Given the description of an element on the screen output the (x, y) to click on. 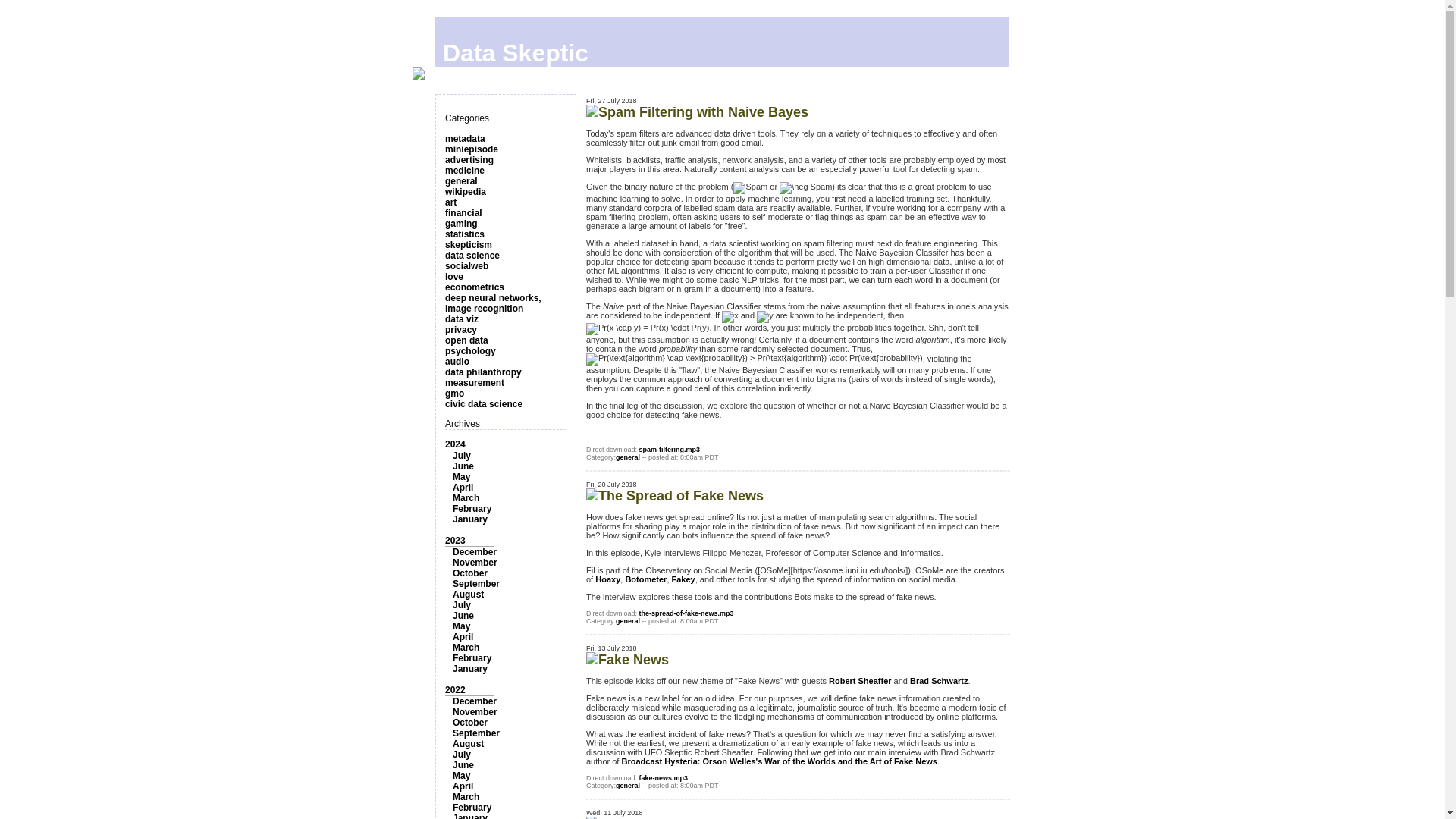
measurement (474, 382)
open data (466, 339)
2023 (455, 540)
privacy (461, 329)
statistics (464, 234)
psychology (470, 350)
April (462, 487)
January (469, 519)
wikipedia (465, 191)
gaming (461, 223)
data viz (462, 318)
July (461, 455)
metadata (464, 138)
gmo (454, 393)
March (465, 498)
